Given the description of an element on the screen output the (x, y) to click on. 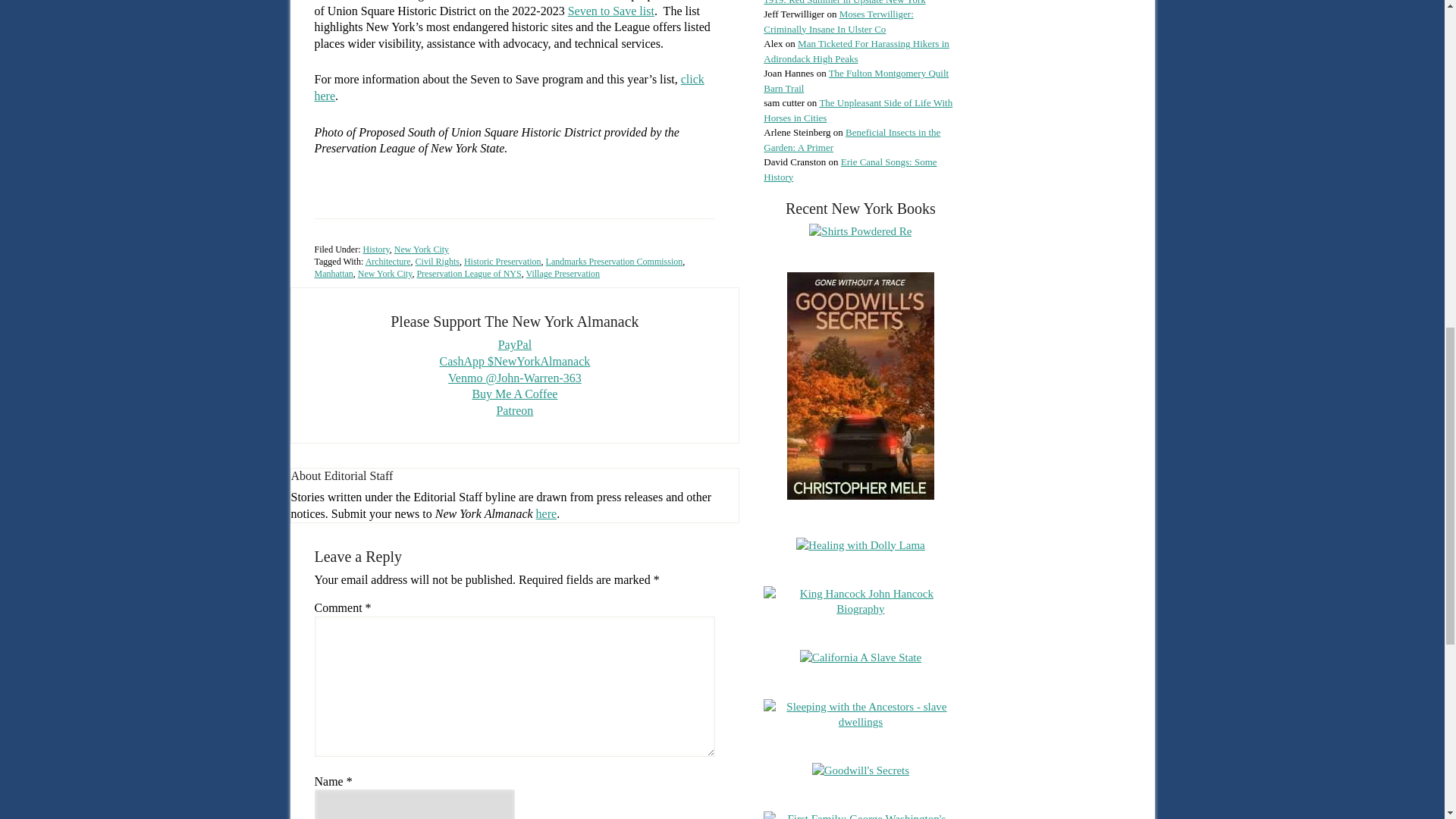
Landmarks Preservation Commission (614, 261)
click here (508, 87)
New York City (421, 249)
Civil Rights (437, 261)
History (375, 249)
Historic Preservation (502, 261)
Architecture (387, 261)
Seven to Save list (610, 10)
